Given the description of an element on the screen output the (x, y) to click on. 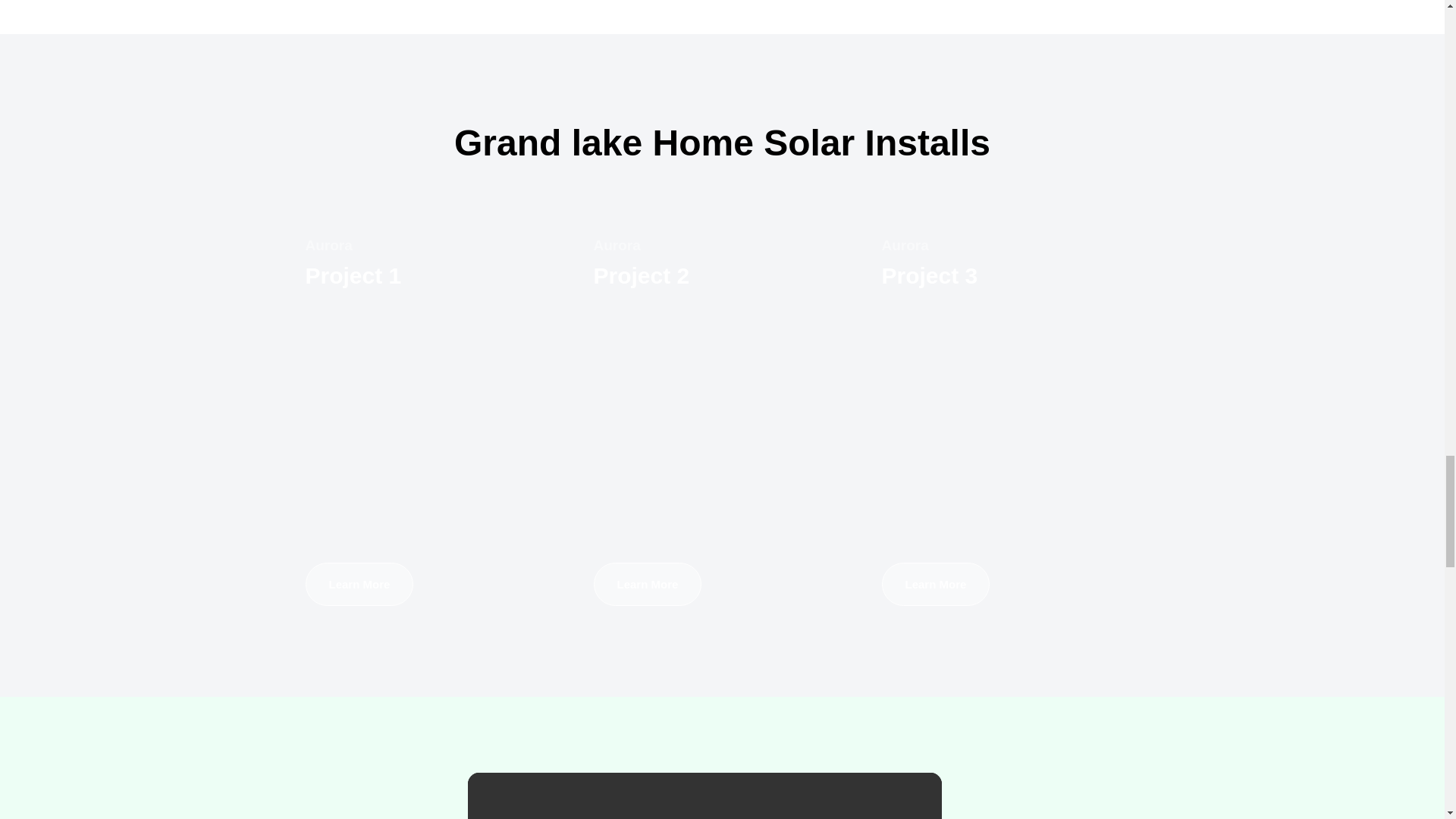
Learn More (358, 584)
Learn More (935, 584)
Learn More (646, 584)
